Given the description of an element on the screen output the (x, y) to click on. 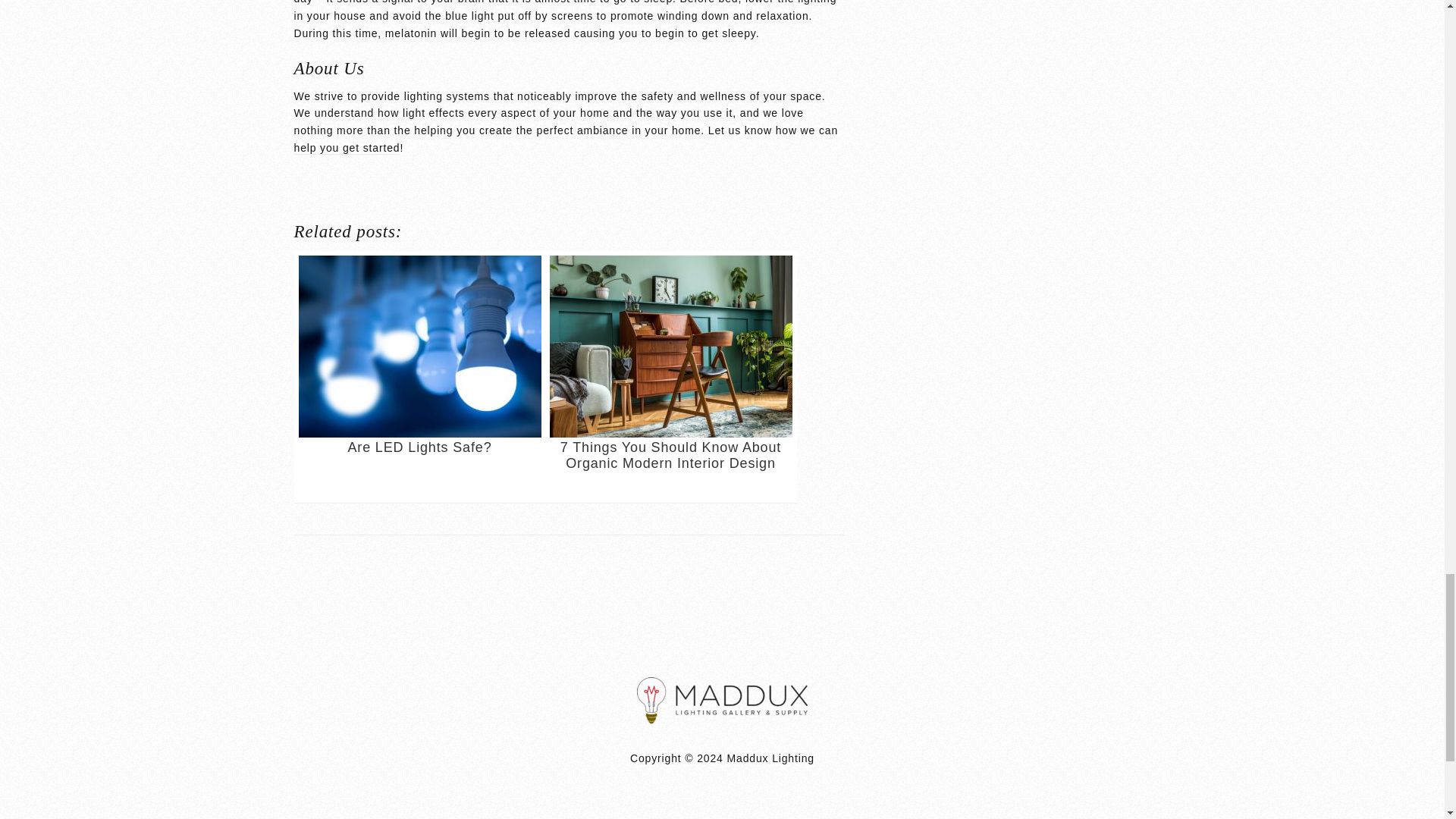
Are LED Lights Safe? (420, 376)
help you get started (347, 147)
